Given the description of an element on the screen output the (x, y) to click on. 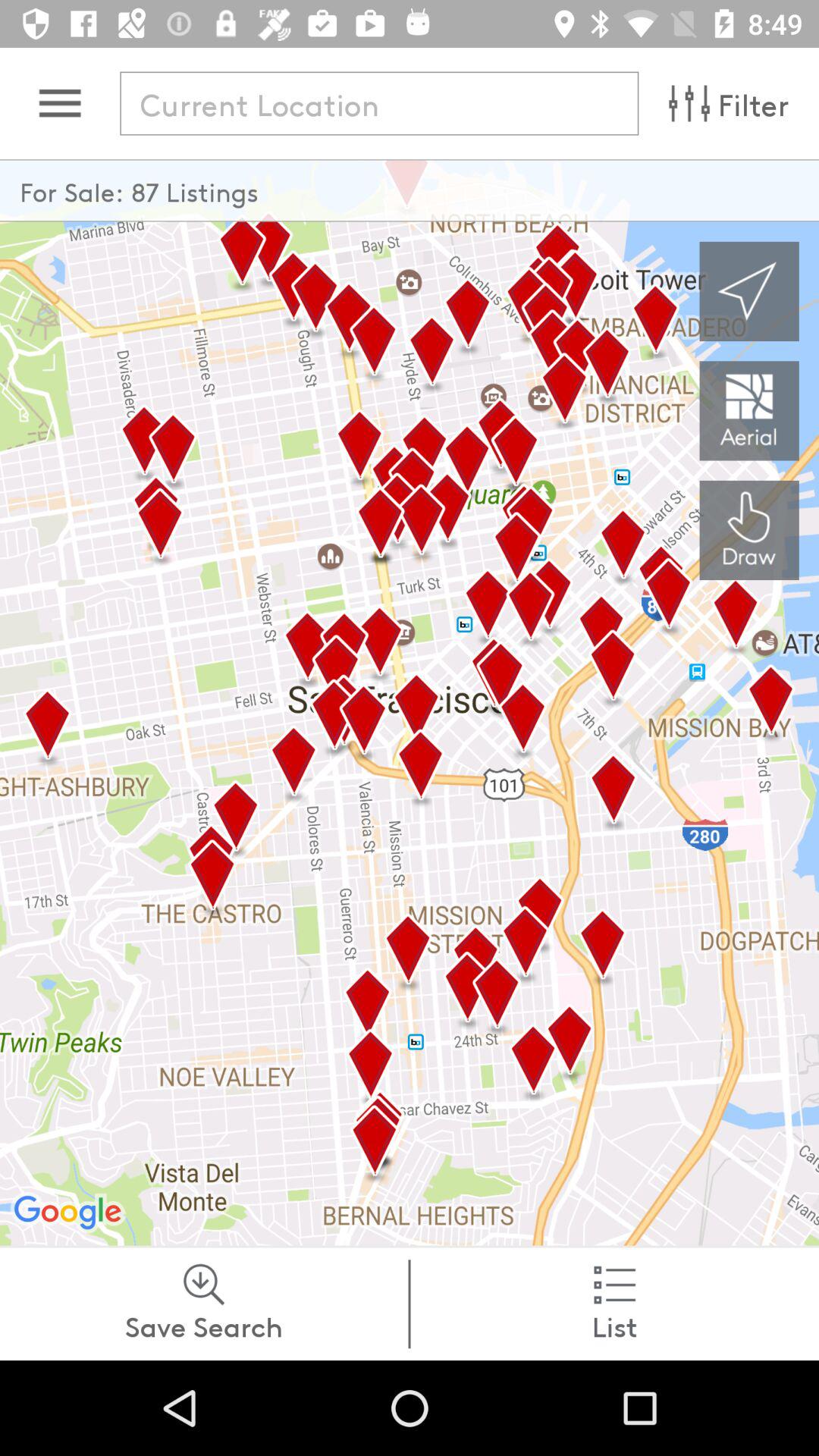
display menu (59, 103)
